Given the description of an element on the screen output the (x, y) to click on. 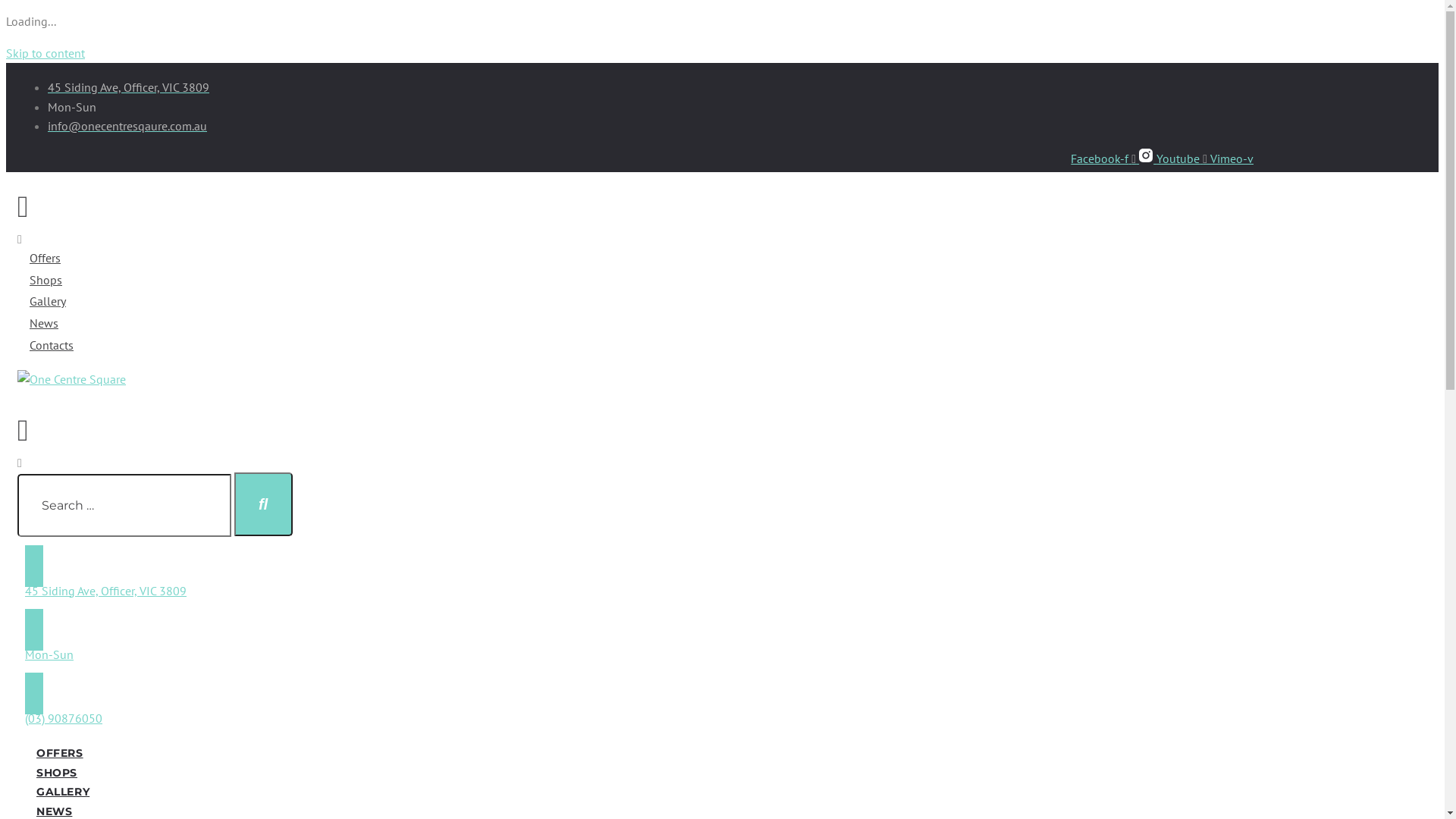
Mon-Sun Element type: text (49, 654)
Contacts Element type: text (51, 344)
Offers Element type: text (44, 257)
Gallery Element type: text (47, 300)
(03) 90876050 Element type: text (63, 717)
45 Siding Ave, Officer, VIC 3809 Element type: text (105, 590)
OFFERS Element type: text (59, 751)
News Element type: text (43, 322)
SHOPS Element type: text (56, 771)
Skip to content Element type: text (45, 52)
Facebook-f Element type: text (1104, 158)
GALLERY Element type: text (62, 790)
Youtube Element type: text (1183, 158)
Shops Element type: text (45, 279)
Vimeo-v Element type: text (1231, 158)
NEWS Element type: text (54, 810)
info@onecentresqaure.com.au Element type: text (127, 125)
45 Siding Ave, Officer, VIC 3809 Element type: text (128, 86)
